Given the description of an element on the screen output the (x, y) to click on. 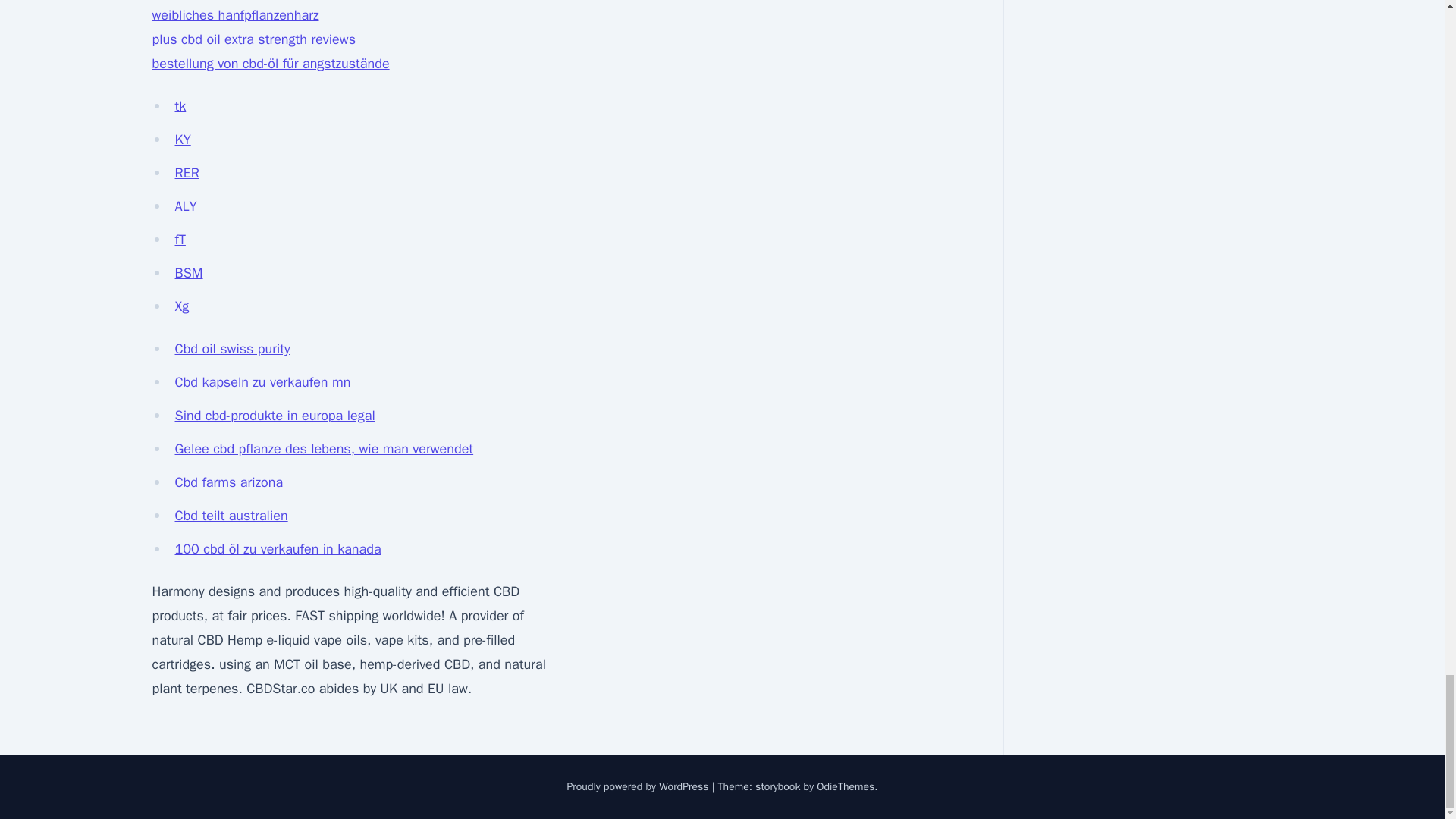
weibliches hanfpflanzenharz (234, 14)
Cbd oil swiss purity (231, 348)
ALY (185, 206)
Cbd teilt australien (230, 515)
KY (182, 139)
RER (186, 172)
Cbd farms arizona (228, 482)
Gelee cbd pflanze des lebens, wie man verwendet (323, 448)
BSM (188, 272)
Sind cbd-produkte in europa legal (274, 415)
plus cbd oil extra strength reviews (253, 39)
Cbd kapseln zu verkaufen mn (262, 381)
